Given the description of an element on the screen output the (x, y) to click on. 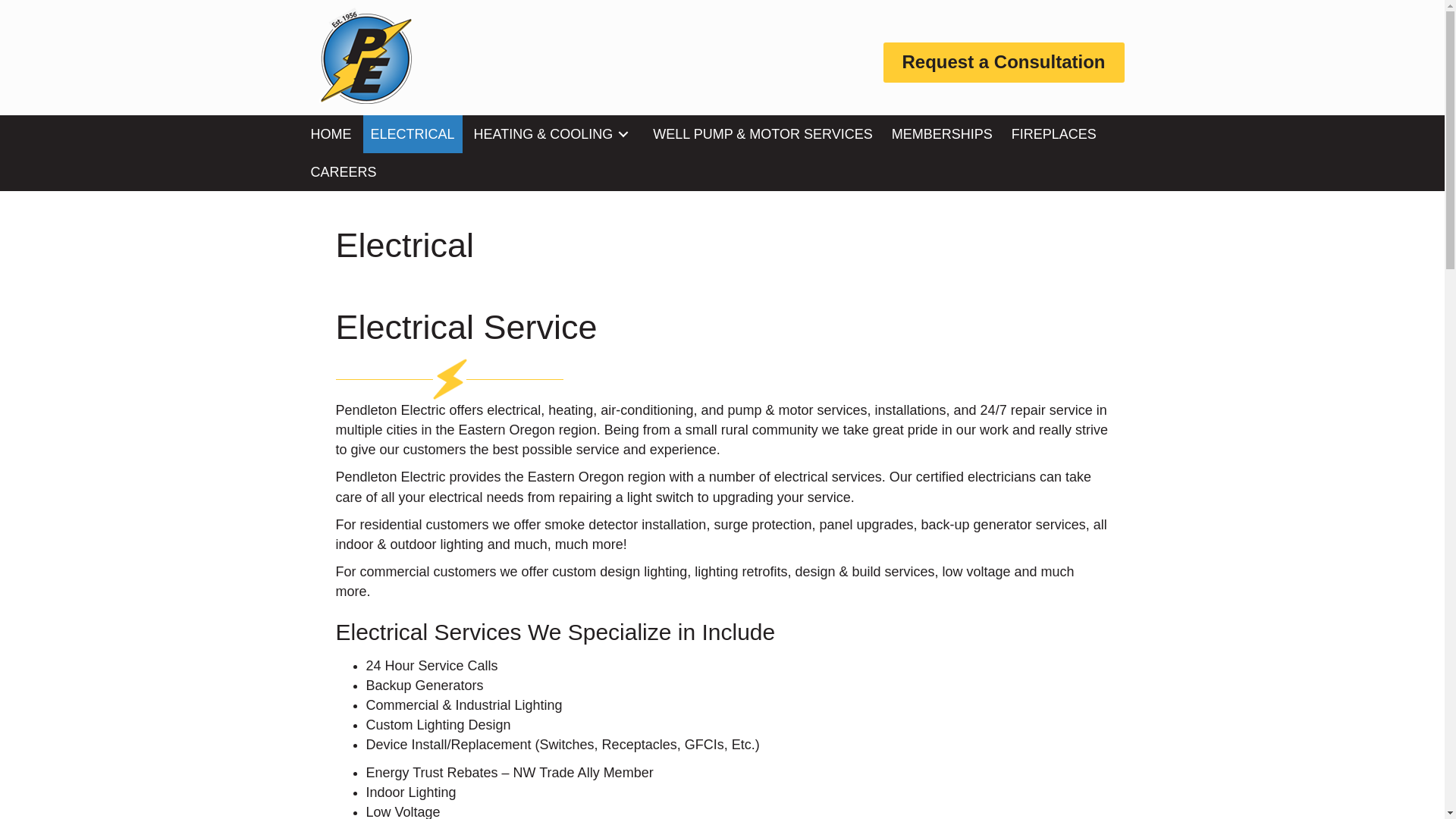
Request a Consultation (1003, 62)
HOME (330, 134)
CAREERS (343, 171)
ELECTRICAL (412, 134)
FIREPLACES (1053, 134)
MEMBERSHIPS (941, 134)
